Given the description of an element on the screen output the (x, y) to click on. 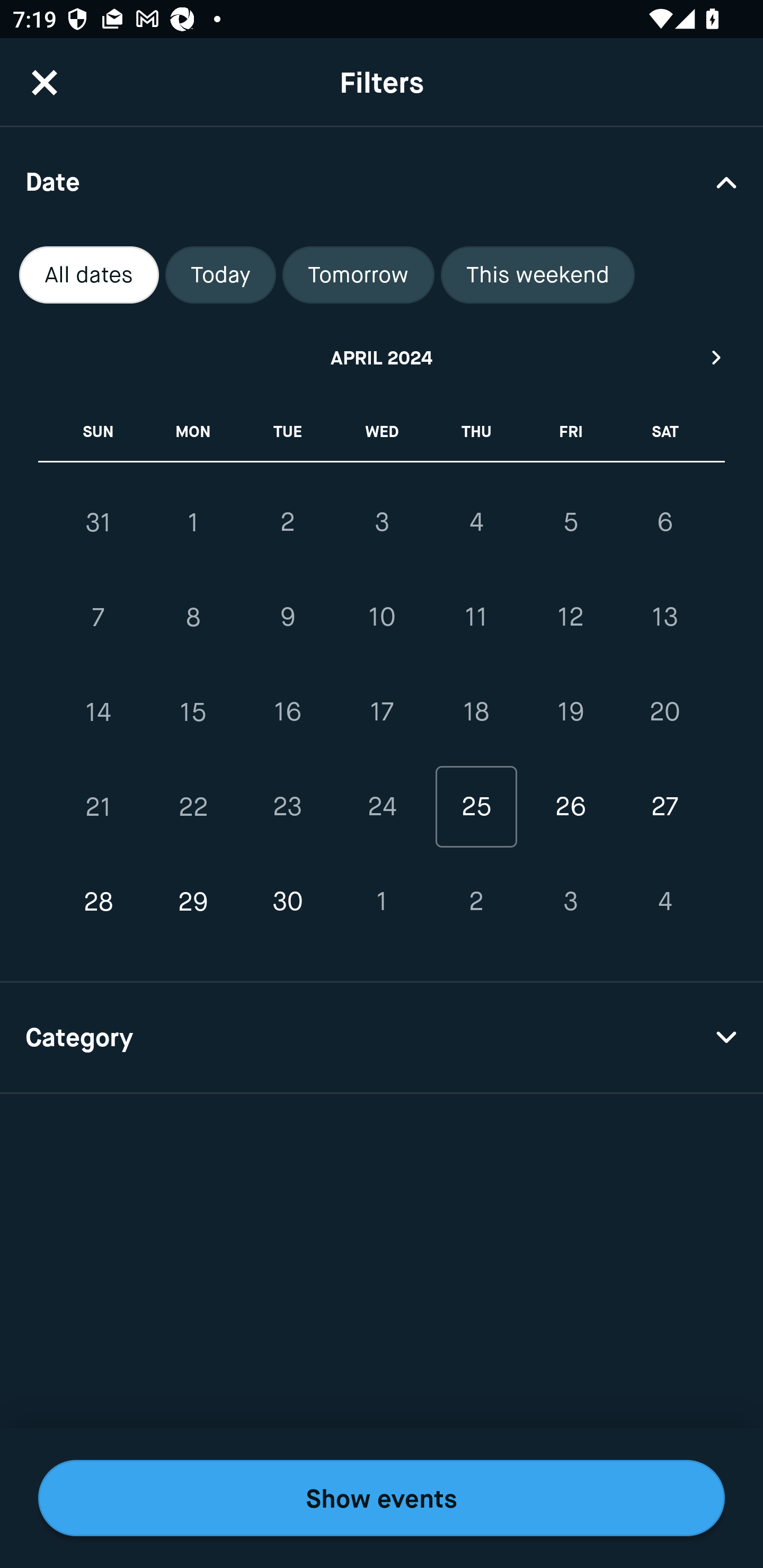
CloseButton (44, 82)
Date Drop Down Arrow (381, 181)
All dates (88, 274)
Today (220, 274)
Tomorrow (358, 274)
This weekend (537, 274)
Next (717, 357)
31 (98, 522)
1 (192, 522)
2 (287, 522)
3 (381, 522)
4 (475, 522)
5 (570, 522)
6 (664, 522)
7 (98, 617)
8 (192, 617)
9 (287, 617)
10 (381, 617)
11 (475, 617)
12 (570, 617)
13 (664, 617)
14 (98, 711)
15 (192, 711)
16 (287, 711)
17 (381, 711)
18 (475, 711)
19 (570, 711)
20 (664, 711)
21 (98, 806)
22 (192, 806)
23 (287, 806)
24 (381, 806)
25 (475, 806)
26 (570, 806)
27 (664, 806)
28 (98, 901)
29 (192, 901)
30 (287, 901)
1 (381, 901)
2 (475, 901)
3 (570, 901)
4 (664, 901)
Category Drop Down Arrow (381, 1038)
Show events (381, 1497)
